Given the description of an element on the screen output the (x, y) to click on. 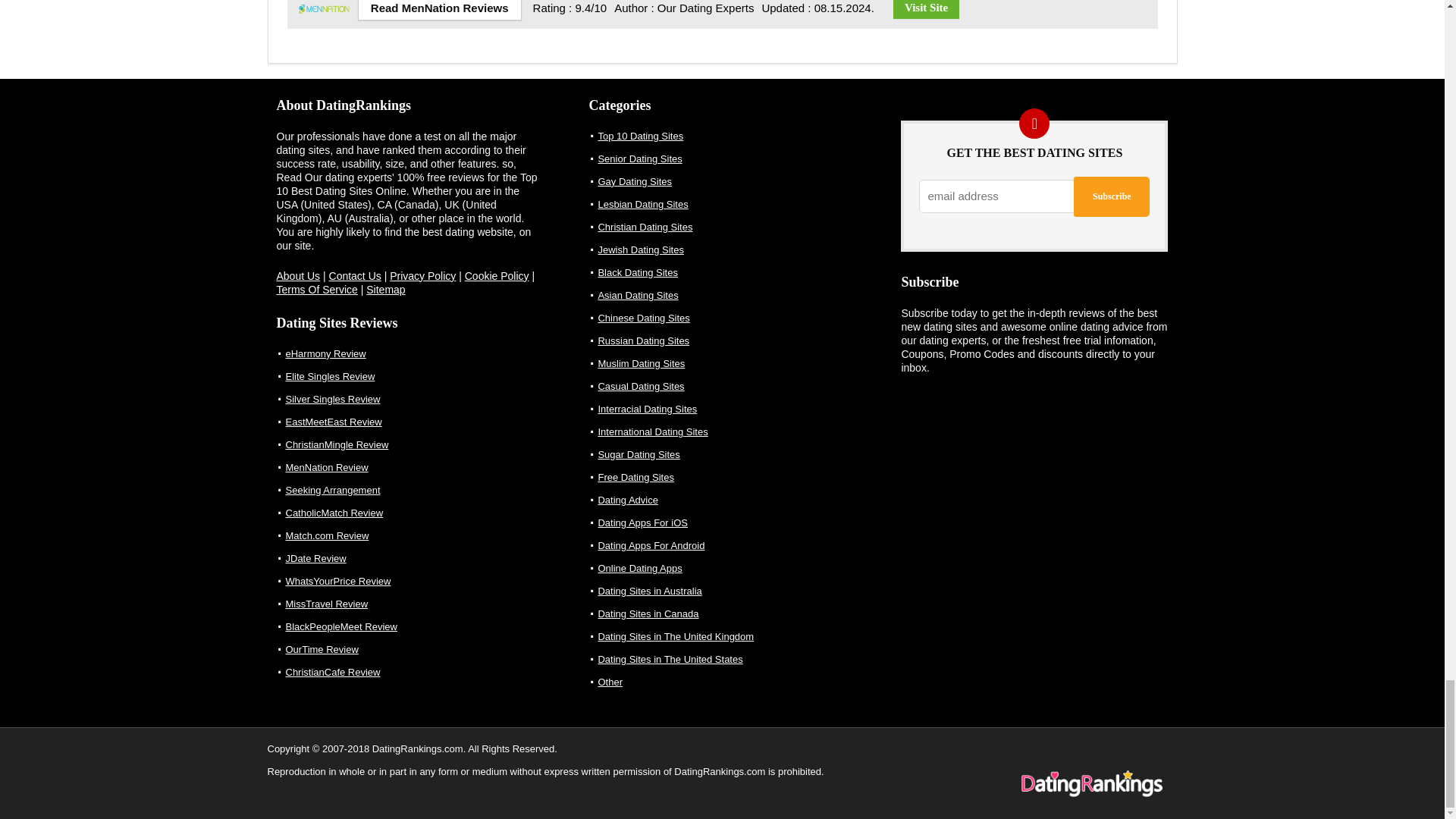
Visit MenNation (926, 9)
MenNation Reviews (439, 10)
Subscribe (1112, 196)
MenNation Reviews (324, 1)
